Given the description of an element on the screen output the (x, y) to click on. 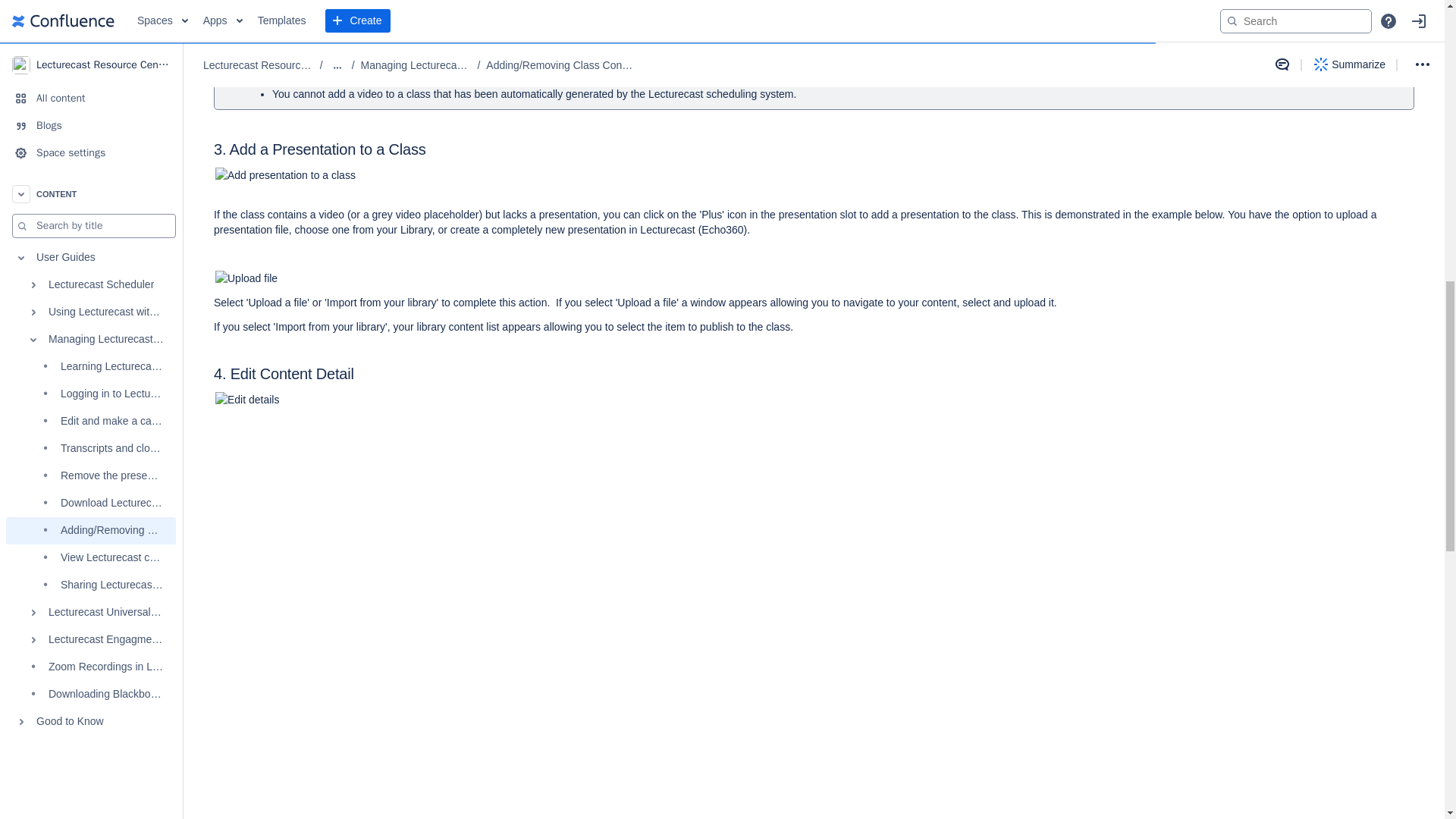
Add presentation to a class (594, 174)
Upload file (347, 278)
